Given the description of an element on the screen output the (x, y) to click on. 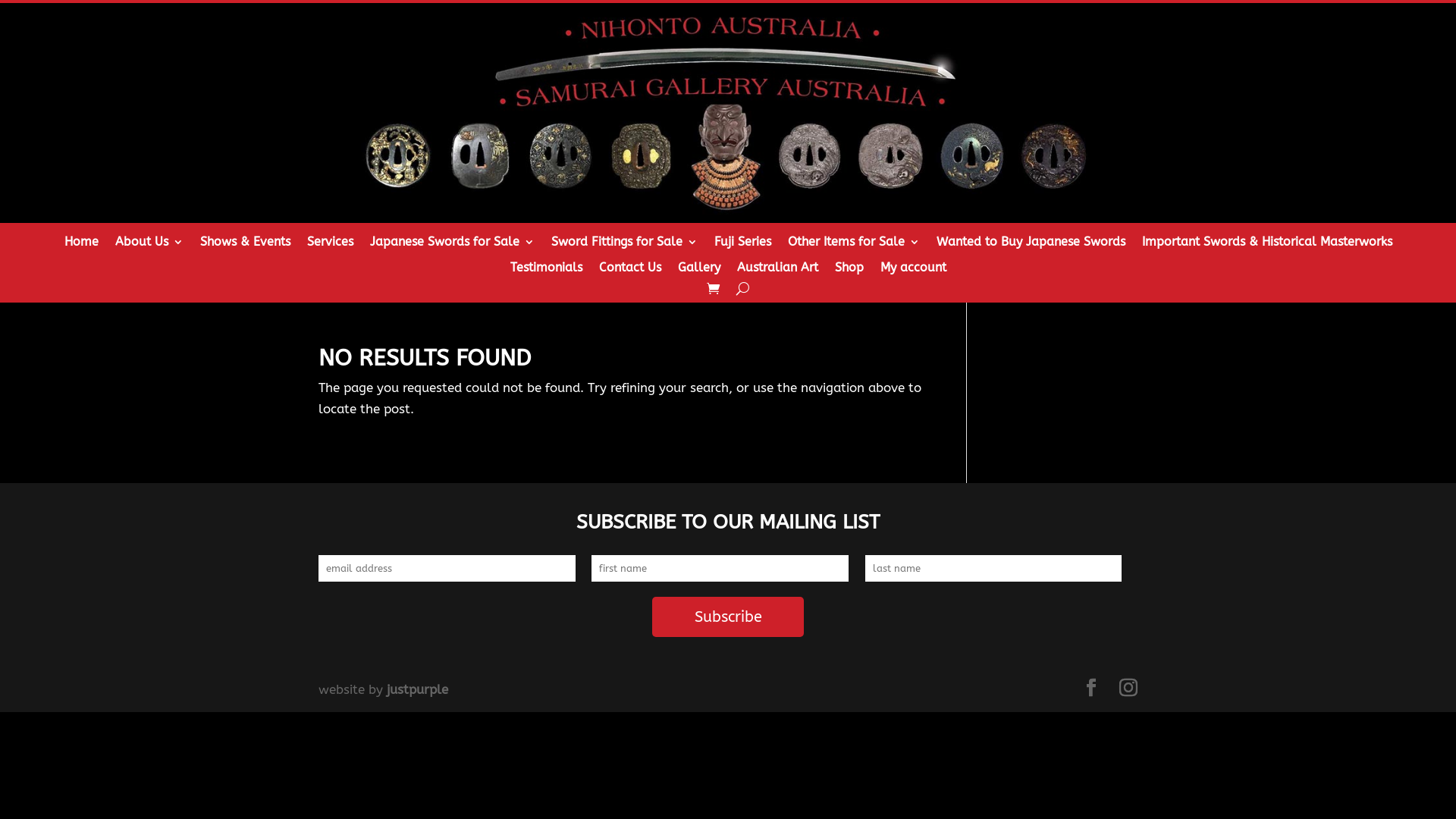
Japanese Swords for Sale Element type: text (452, 246)
Australian Art Element type: text (777, 272)
Testimonials Element type: text (545, 272)
Gallery Element type: text (698, 272)
My account Element type: text (912, 272)
Important Swords & Historical Masterworks Element type: text (1267, 246)
Wanted to Buy Japanese Swords Element type: text (1029, 246)
Services Element type: text (329, 246)
Other Items for Sale Element type: text (853, 246)
Subscribe Element type: text (727, 616)
Home Element type: text (80, 246)
Shows & Events Element type: text (245, 246)
Contact Us Element type: text (630, 272)
justpurple Element type: text (417, 688)
Fuji Series Element type: text (742, 246)
Sword Fittings for Sale Element type: text (623, 246)
About Us Element type: text (149, 246)
Shop Element type: text (848, 272)
